Given the description of an element on the screen output the (x, y) to click on. 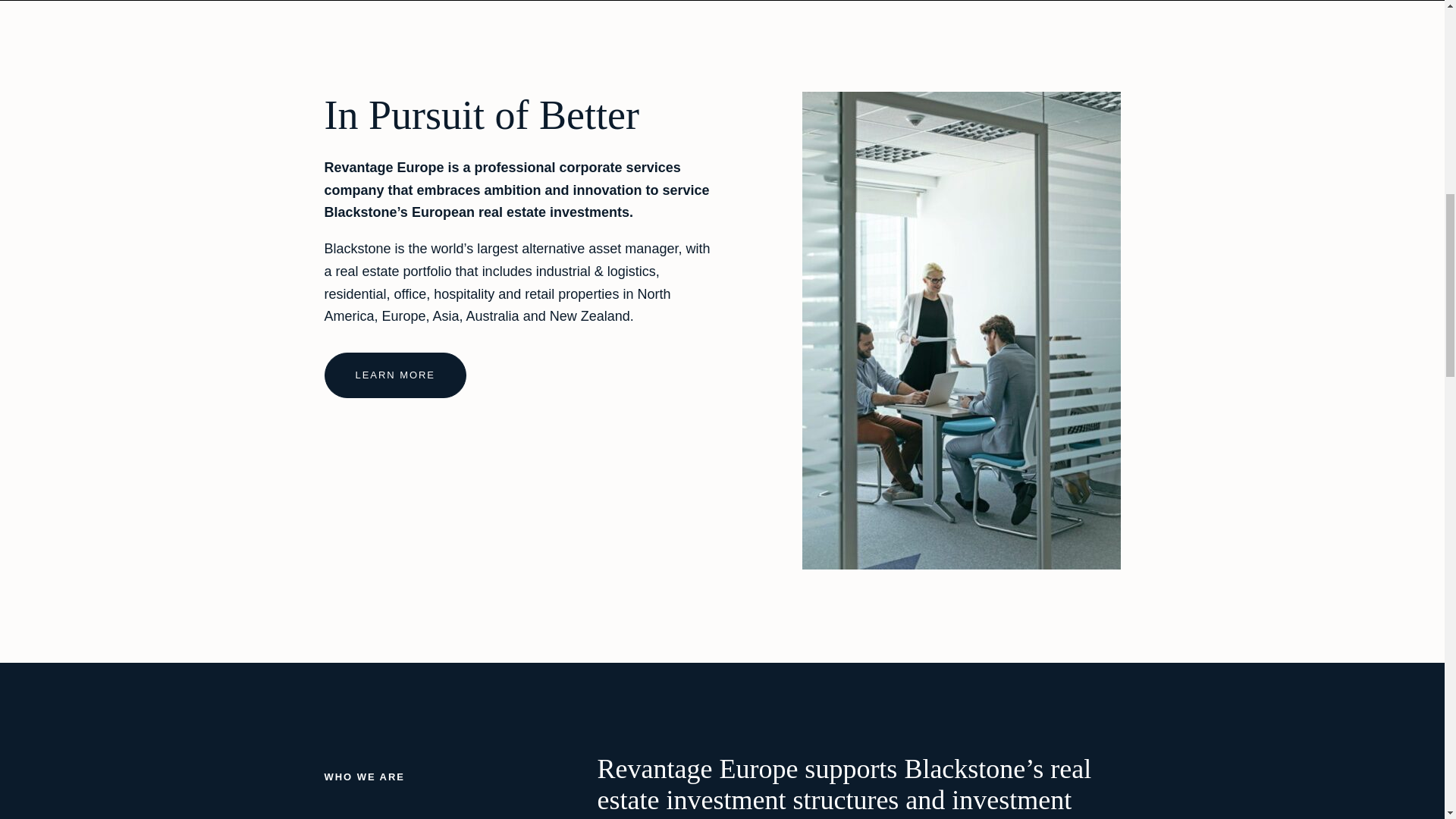
LEARN MORE (394, 375)
